Given the description of an element on the screen output the (x, y) to click on. 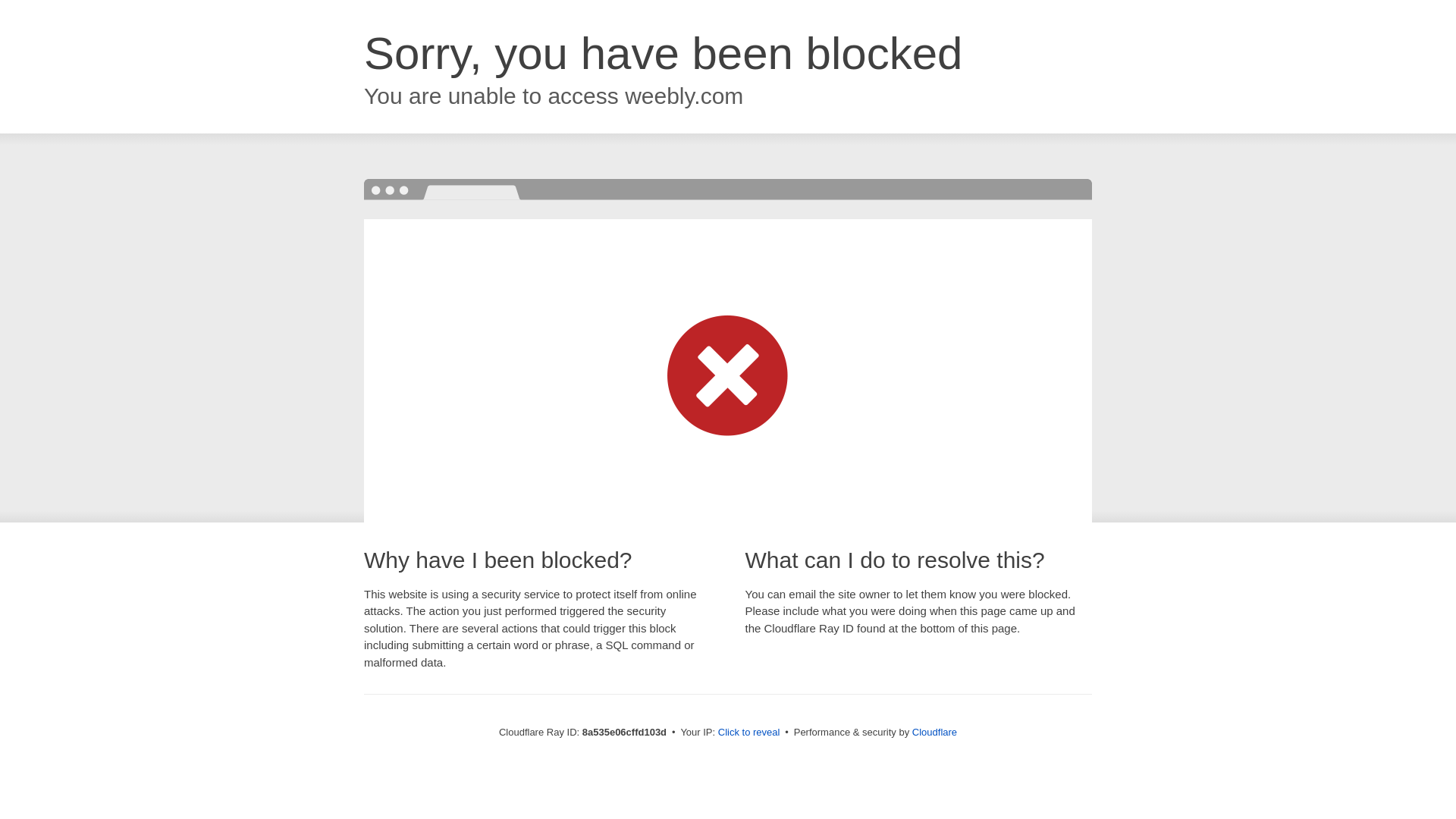
Click to reveal (748, 732)
Cloudflare (934, 731)
